Given the description of an element on the screen output the (x, y) to click on. 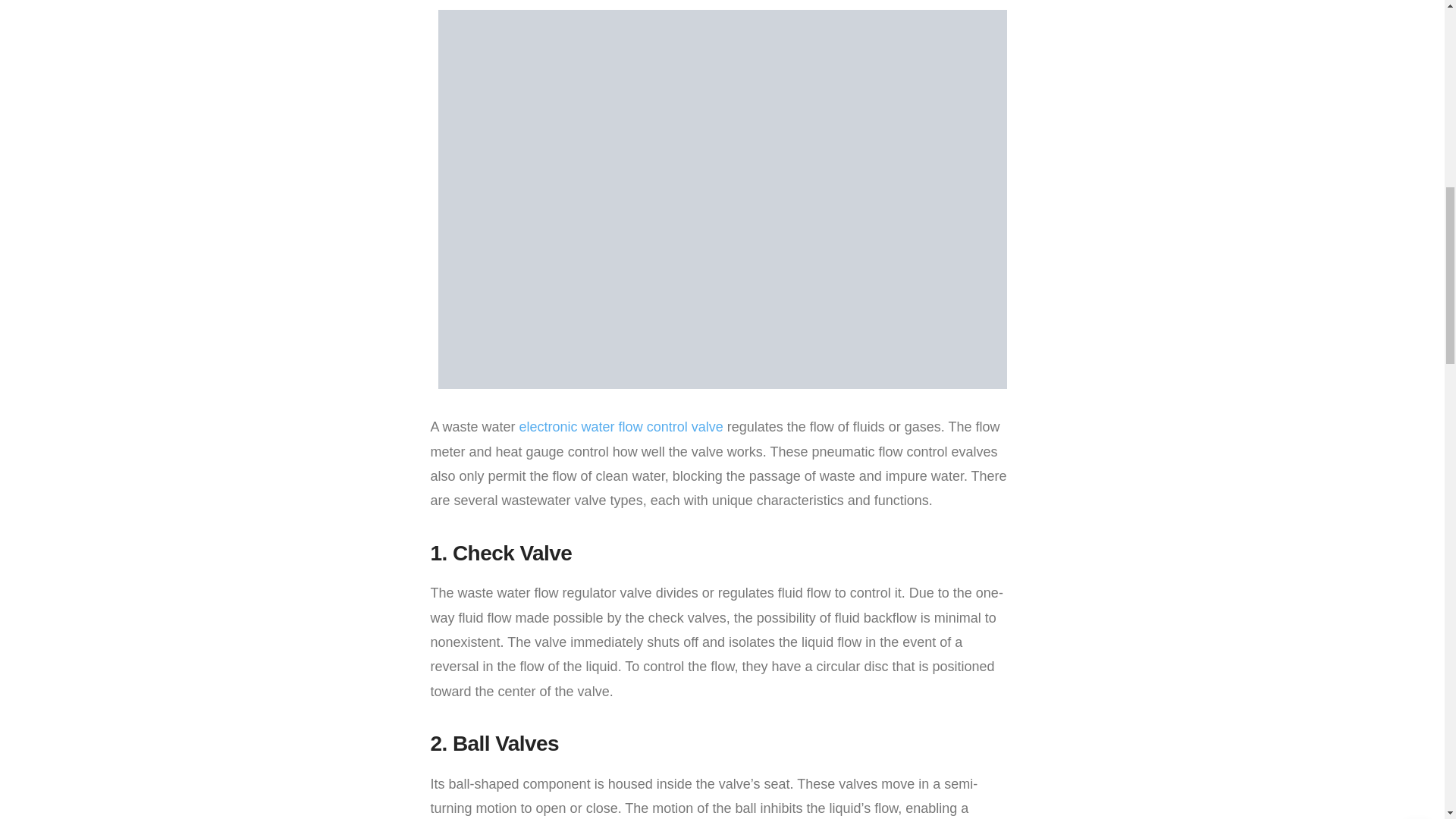
electronic water flow control valve (621, 426)
